Given the description of an element on the screen output the (x, y) to click on. 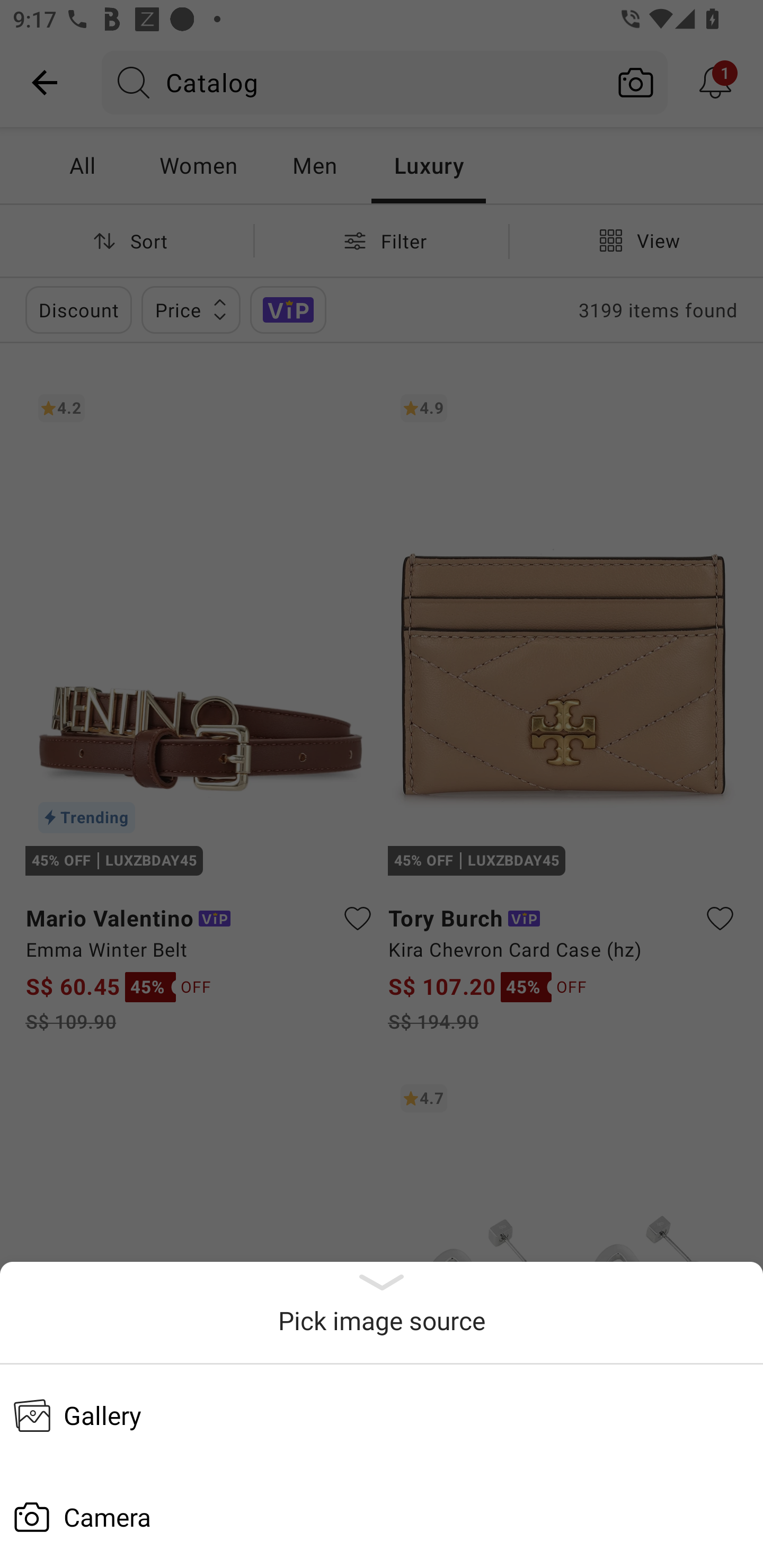
Gallery (381, 1415)
Camera (381, 1517)
